Given the description of an element on the screen output the (x, y) to click on. 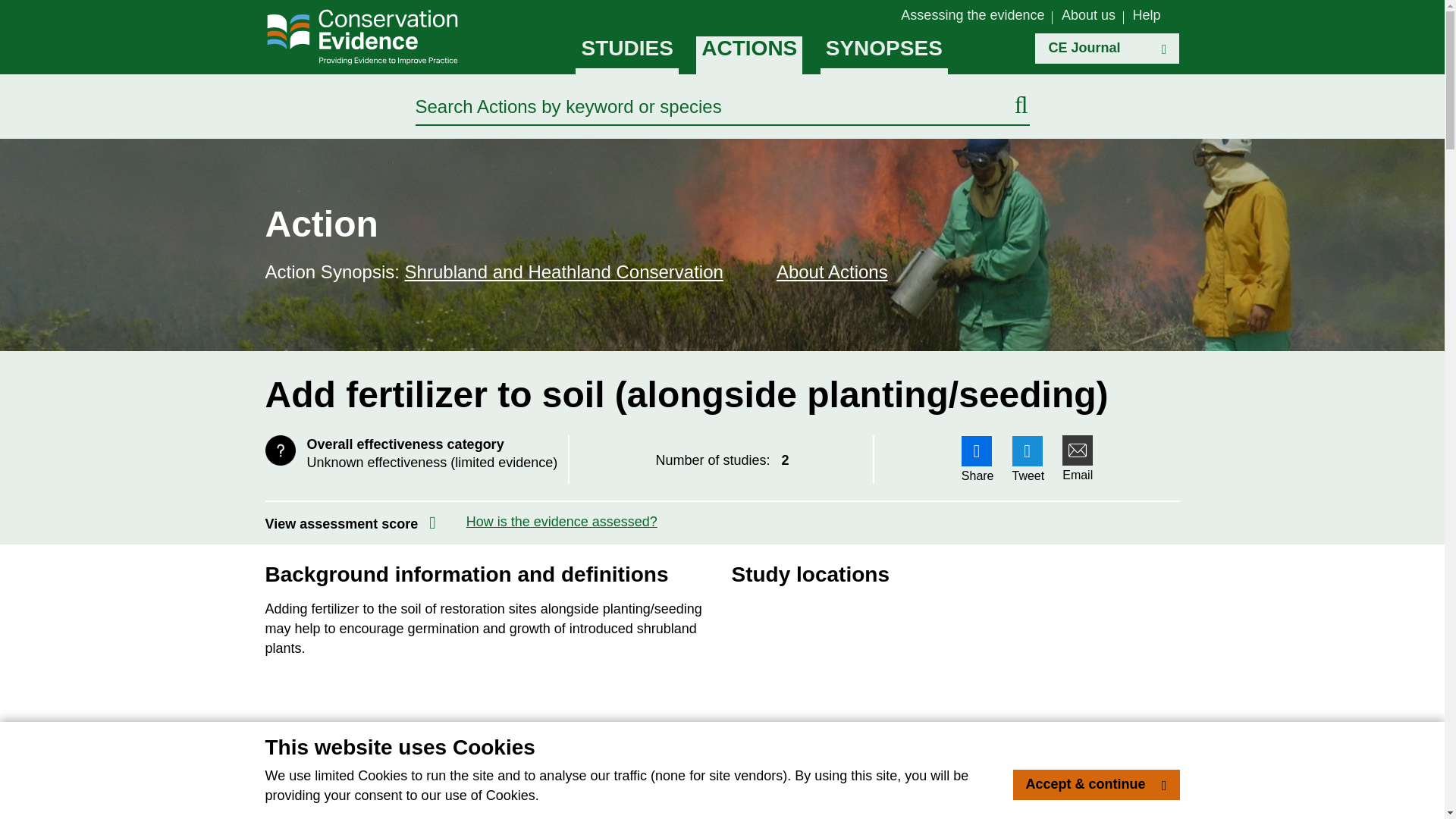
About Actions (859, 271)
CE Journal (1107, 48)
About us (1088, 14)
ACTIONS (748, 55)
How is the evidence assessed? (561, 521)
Shrubland and Heathland Conservation (563, 271)
SYNOPSES (884, 55)
Assessing the evidence (972, 14)
STUDIES (626, 55)
Help (1146, 14)
